Given the description of an element on the screen output the (x, y) to click on. 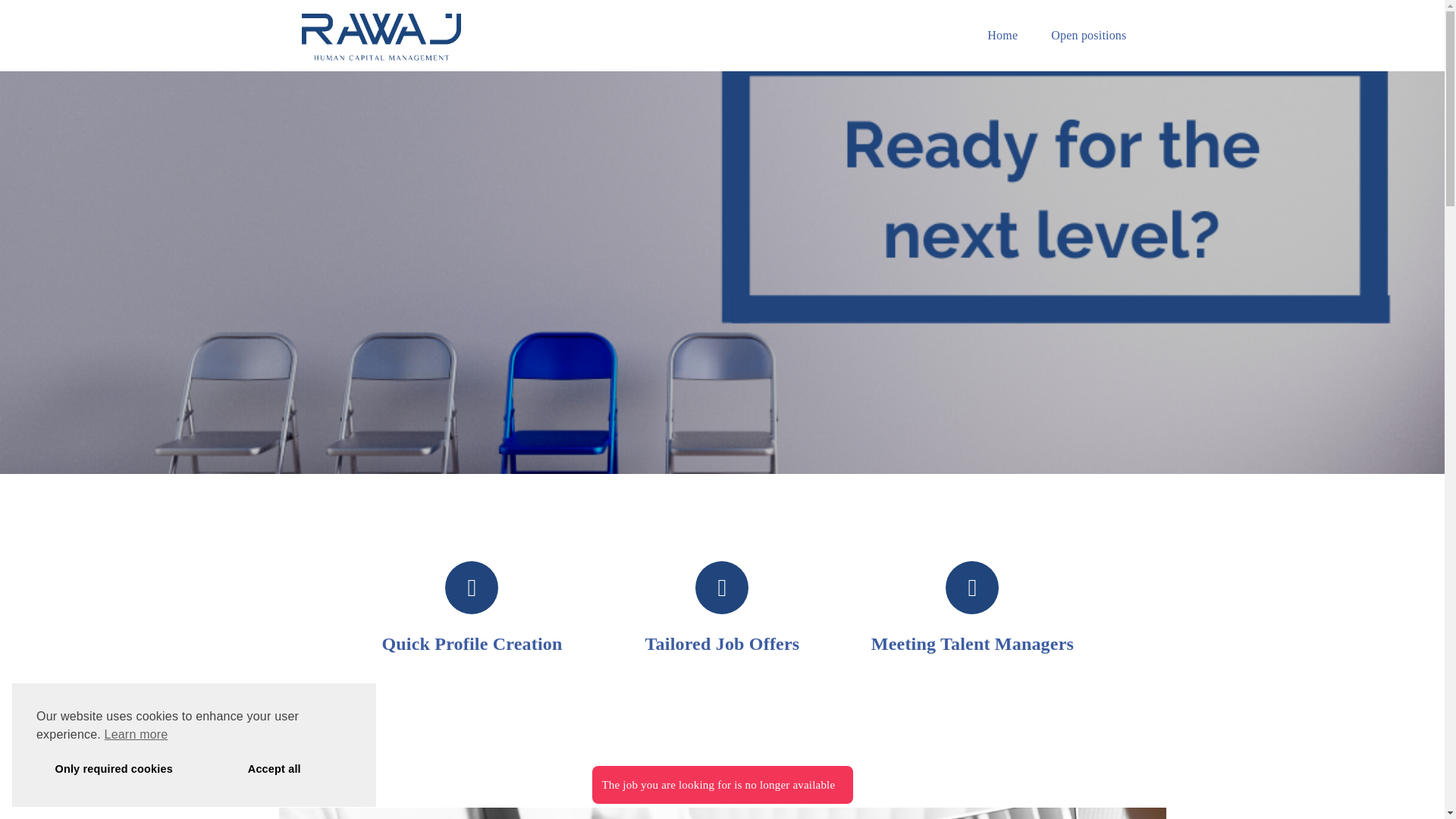
Only required cookies (113, 768)
Learn more (136, 733)
Home (1002, 37)
Open positions (1088, 37)
Accept all (274, 768)
